Given the description of an element on the screen output the (x, y) to click on. 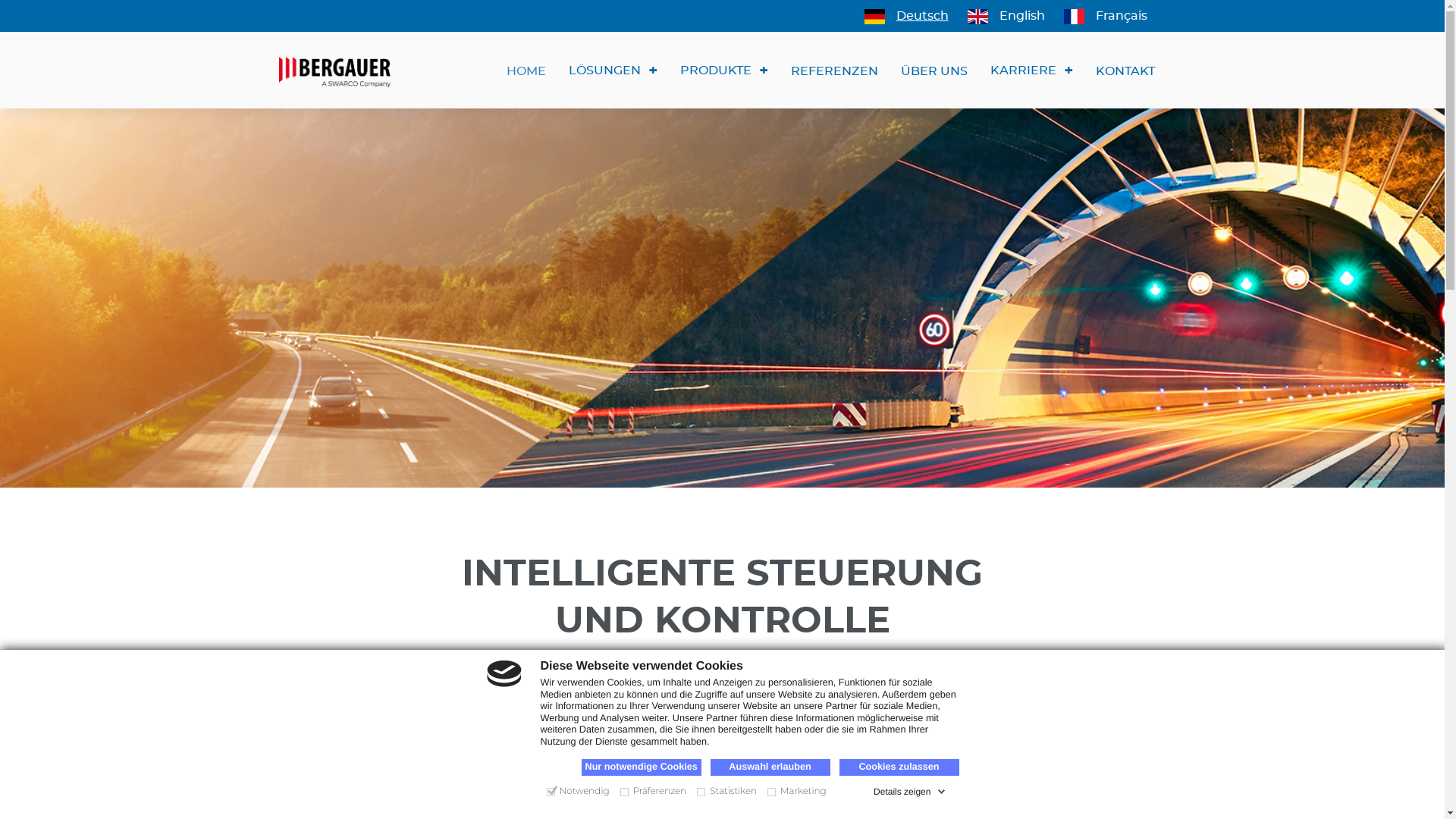
Details zeigen Element type: text (909, 791)
Deutsch Element type: text (921, 15)
Auswahl erlauben Element type: text (769, 767)
KARRIERE Element type: text (1030, 69)
REFERENZEN Element type: text (834, 71)
Cookies zulassen Element type: text (898, 767)
PRODUKTE Element type: text (723, 69)
Nur notwendige Cookies Element type: text (640, 767)
HOME Element type: text (525, 71)
KONTAKT Element type: text (1125, 71)
Home Element type: hover (340, 69)
Skip to main content Element type: text (0, 0)
English Element type: text (1021, 15)
